Given the description of an element on the screen output the (x, y) to click on. 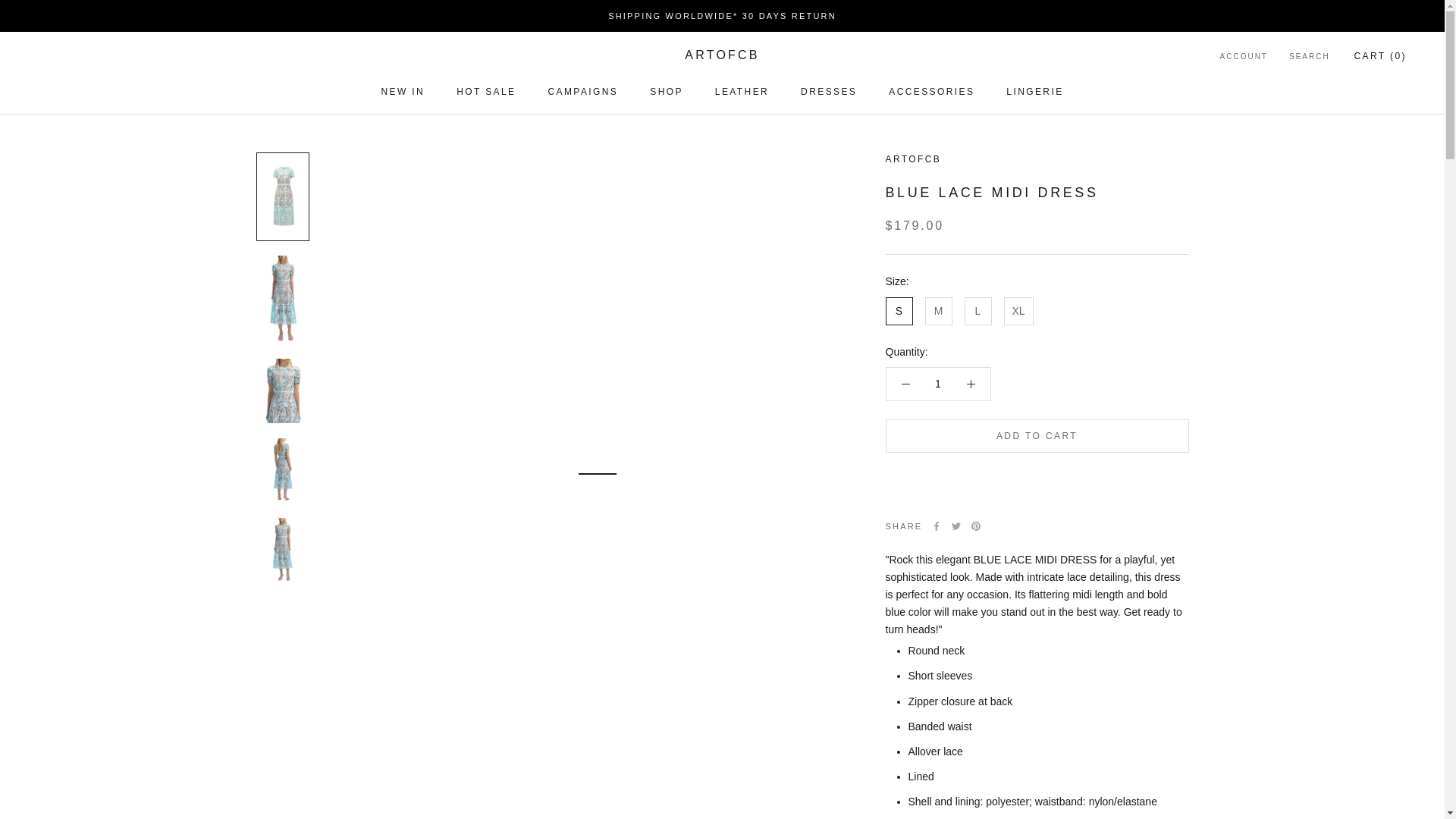
DRESSES (402, 91)
SHOP (486, 91)
1 (828, 91)
ACCESSORIES (665, 91)
CAMPAIGNS (741, 91)
